Given the description of an element on the screen output the (x, y) to click on. 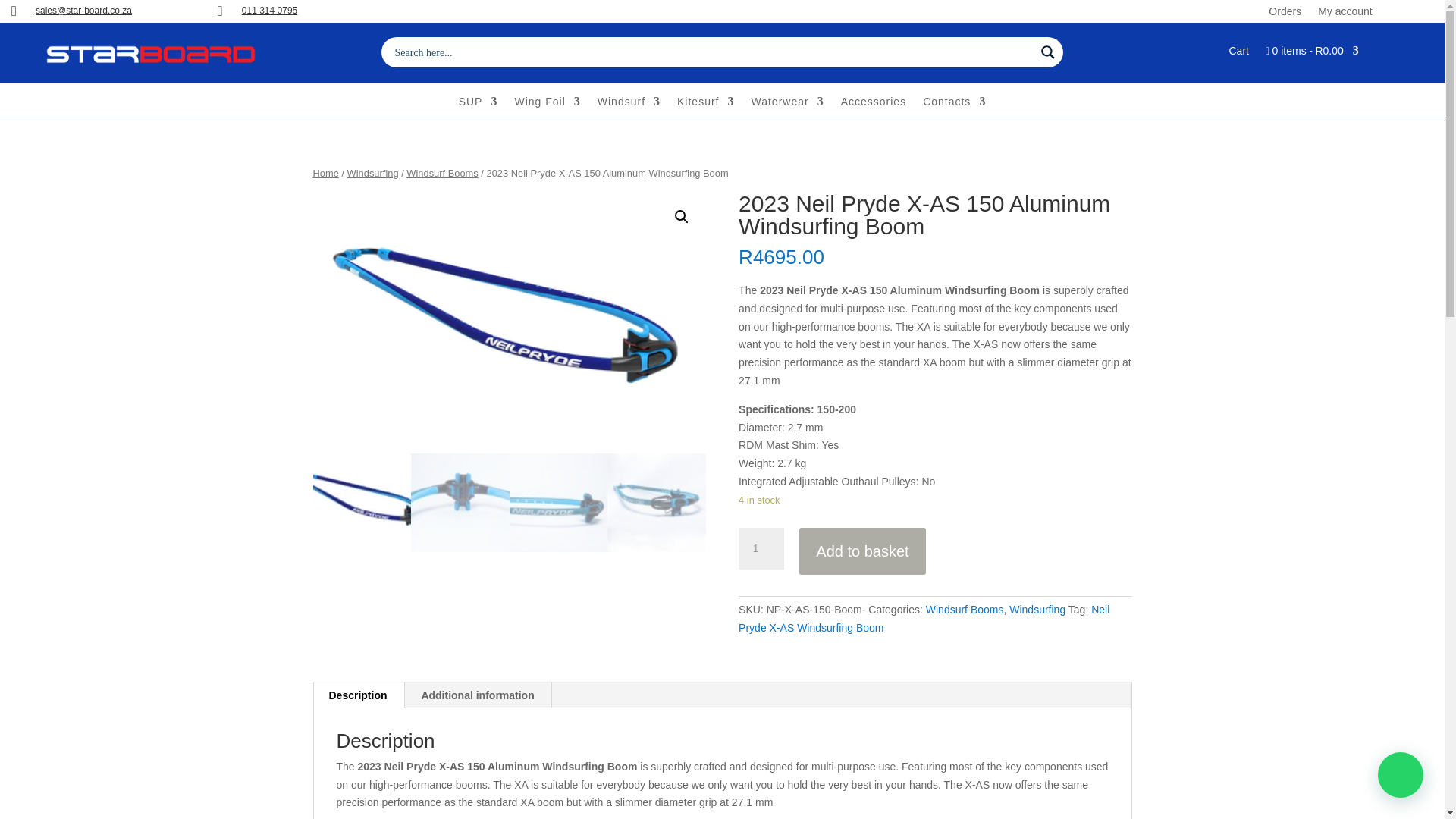
0 itemsR0.00 (1311, 54)
Orders (1284, 8)
My account (1345, 8)
Windsurf (628, 104)
Start shopping (1311, 54)
011 314 0795 (269, 9)
Wing Foil (546, 104)
starboard-logo-white (150, 54)
1 (761, 548)
Cart (1237, 54)
SUP (477, 104)
